Given the description of an element on the screen output the (x, y) to click on. 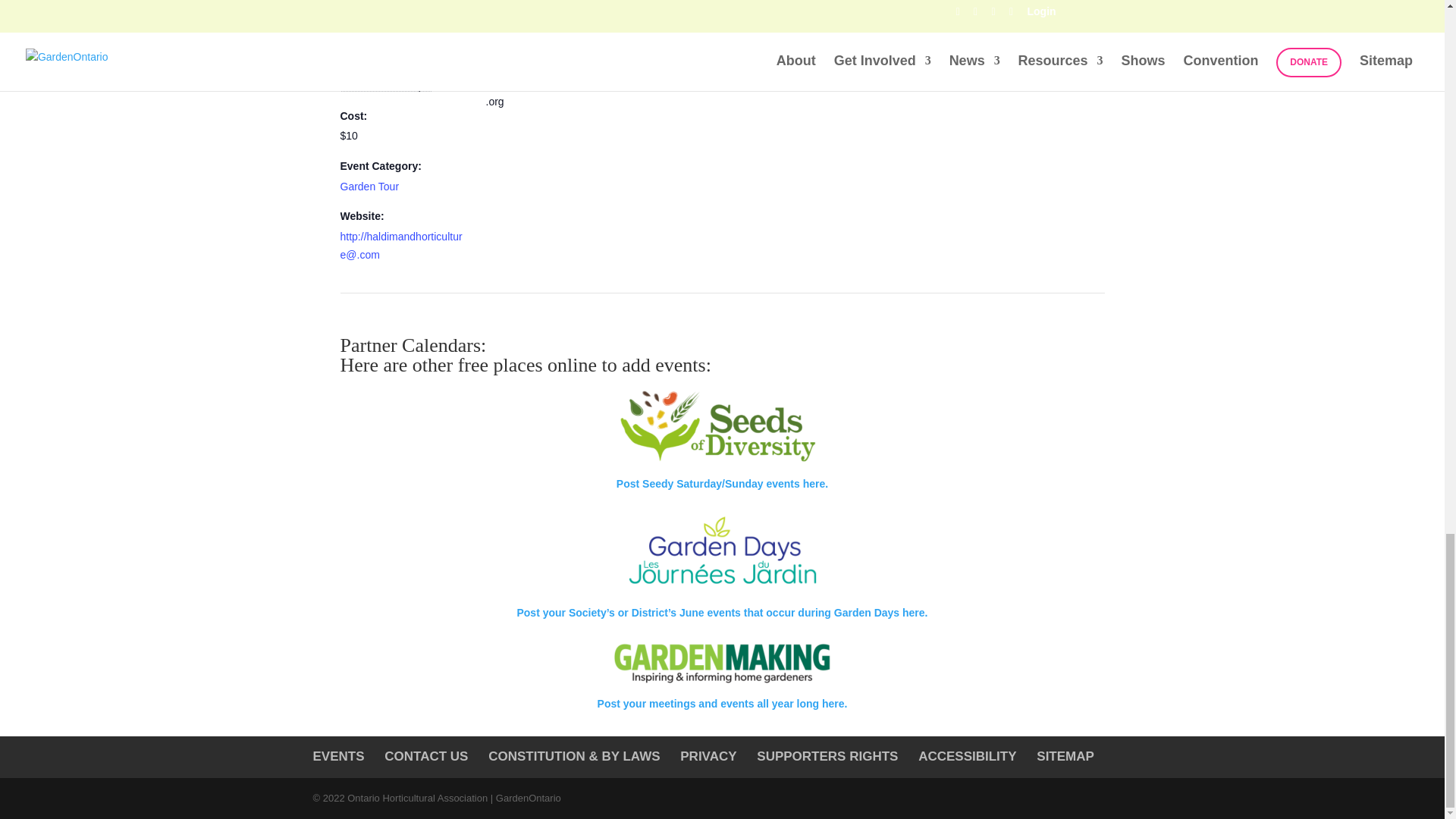
Haldimand Horticultural Society (539, 24)
Garden Tour (368, 186)
Haldimand Horticultural Society (539, 24)
2024-06-29 (385, 34)
2024-06-30 (385, 85)
